Given the description of an element on the screen output the (x, y) to click on. 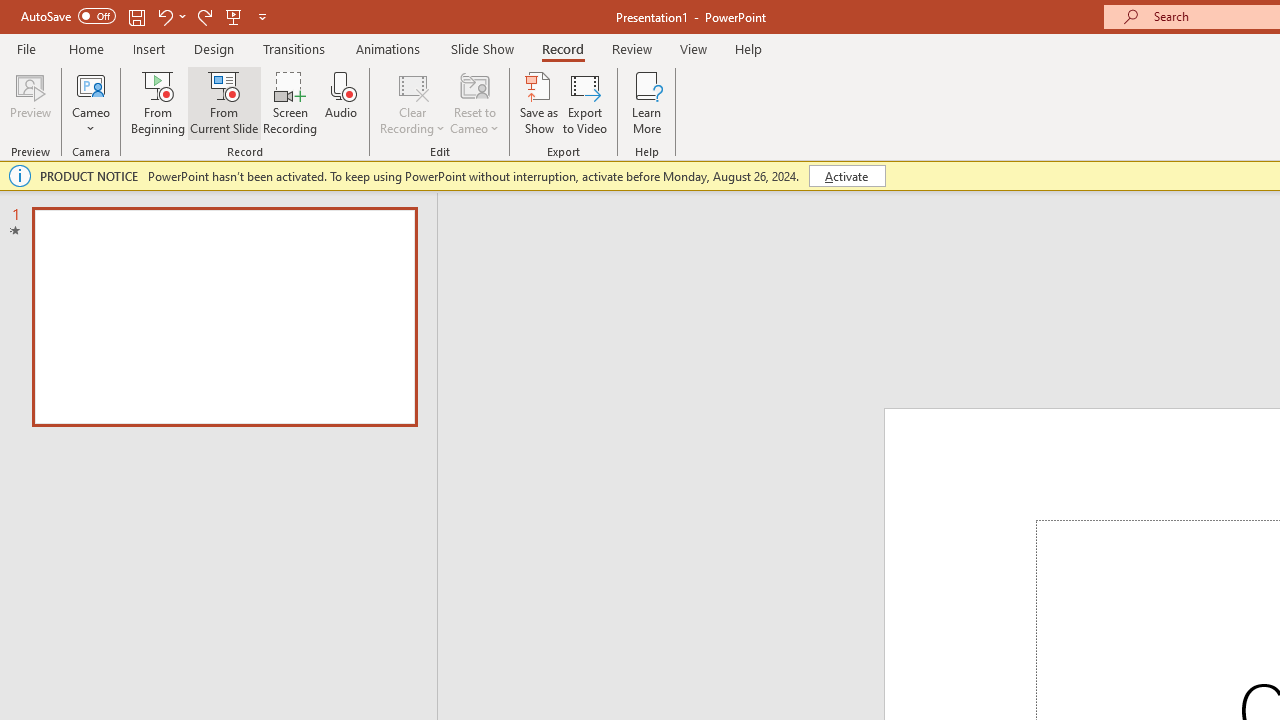
From Beginning... (158, 102)
From Current Slide... (224, 102)
Screen Recording (290, 102)
